Given the description of an element on the screen output the (x, y) to click on. 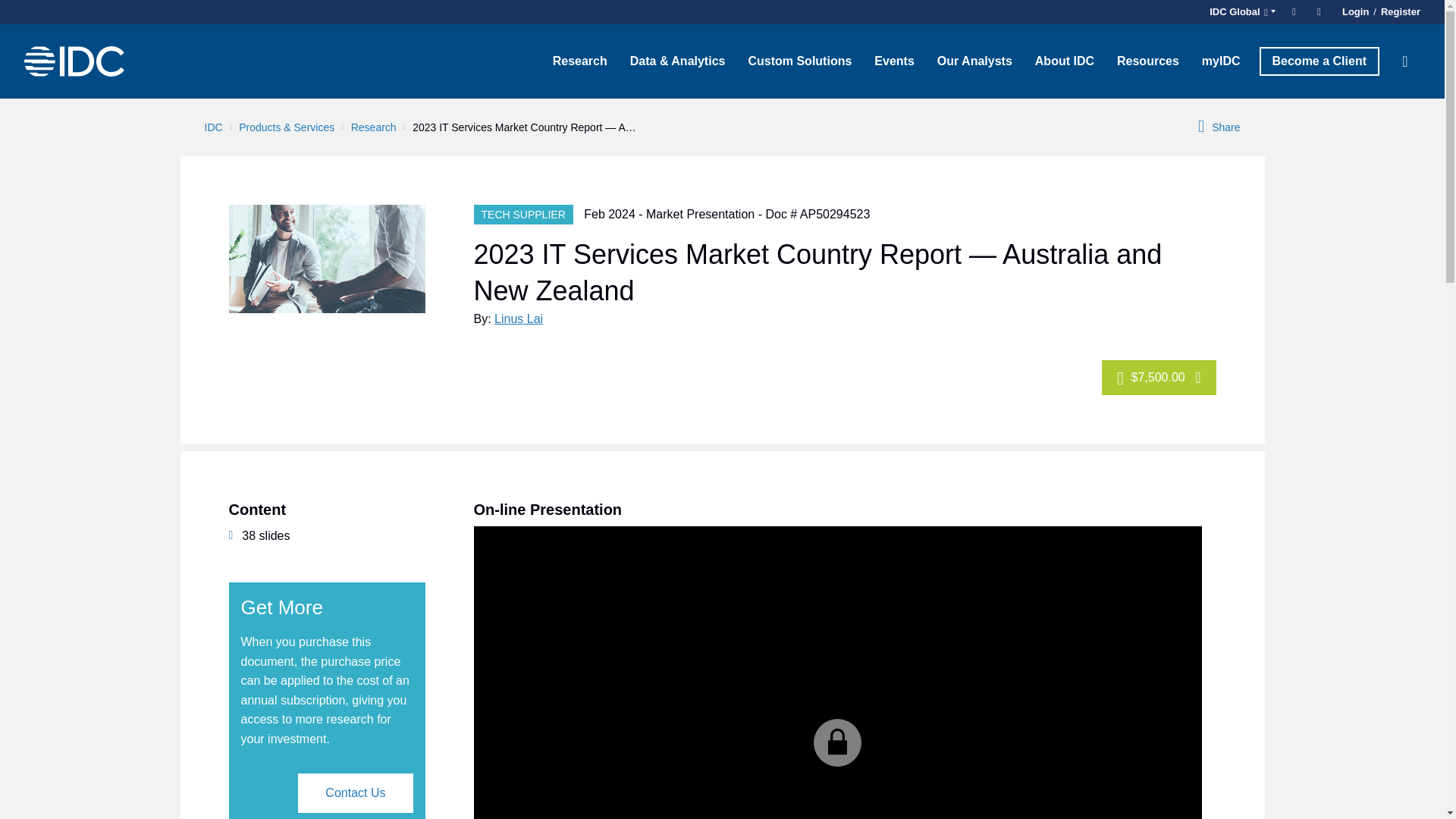
Register (1398, 12)
Events (893, 60)
IDC Global (1240, 12)
Research (579, 60)
Resources (1148, 60)
Custom Solutions (799, 60)
Our Analysts (974, 60)
Search (1405, 61)
myIDC (1221, 60)
Become a Client (1318, 60)
